Given the description of an element on the screen output the (x, y) to click on. 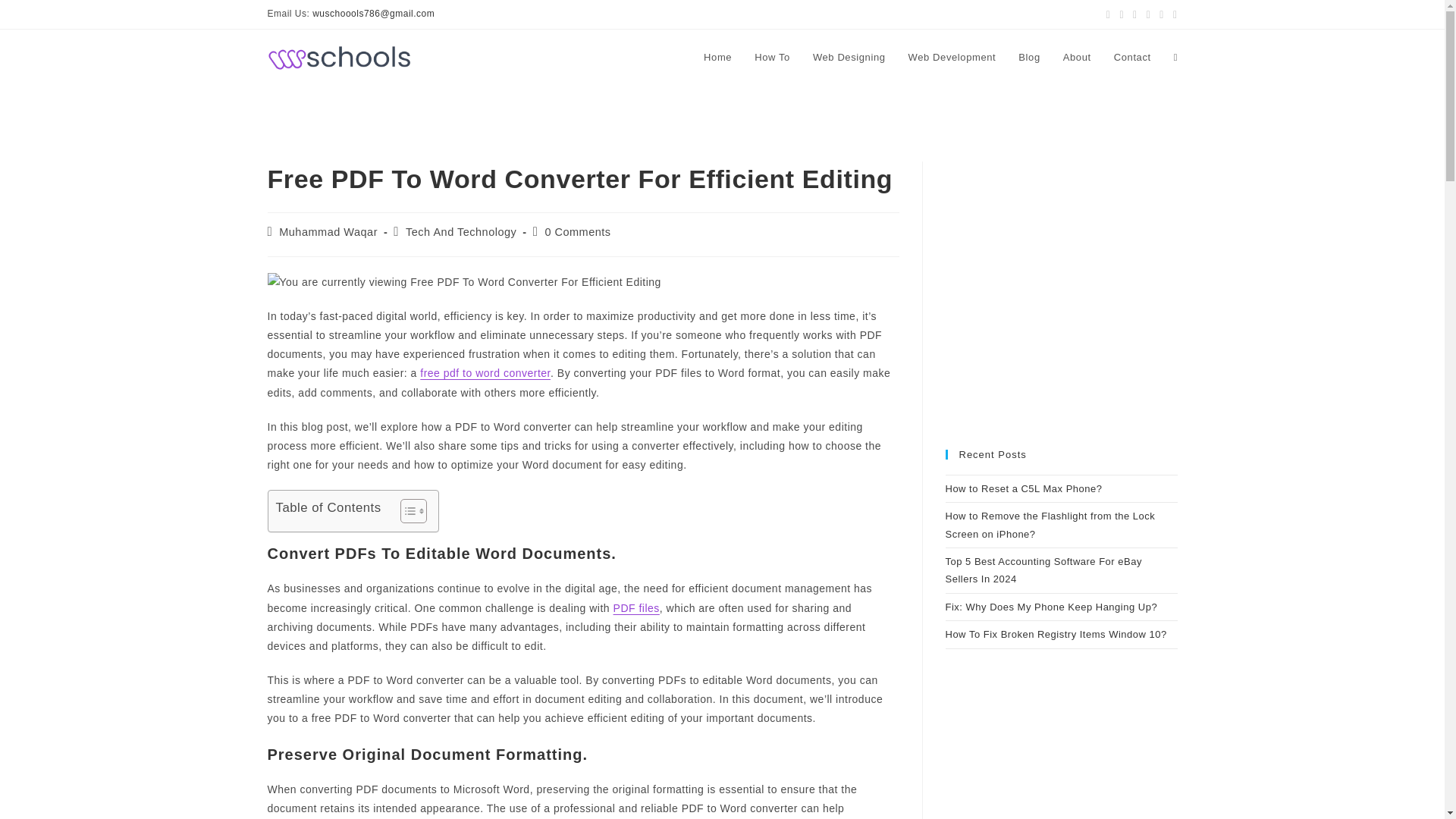
Web Development (951, 57)
How To (772, 57)
Web Designing (849, 57)
Advertisement (1060, 306)
Posts by Muhammad Waqar (328, 232)
Home (717, 57)
Contact (1131, 57)
Advertisement (1060, 766)
About (1076, 57)
